Given the description of an element on the screen output the (x, y) to click on. 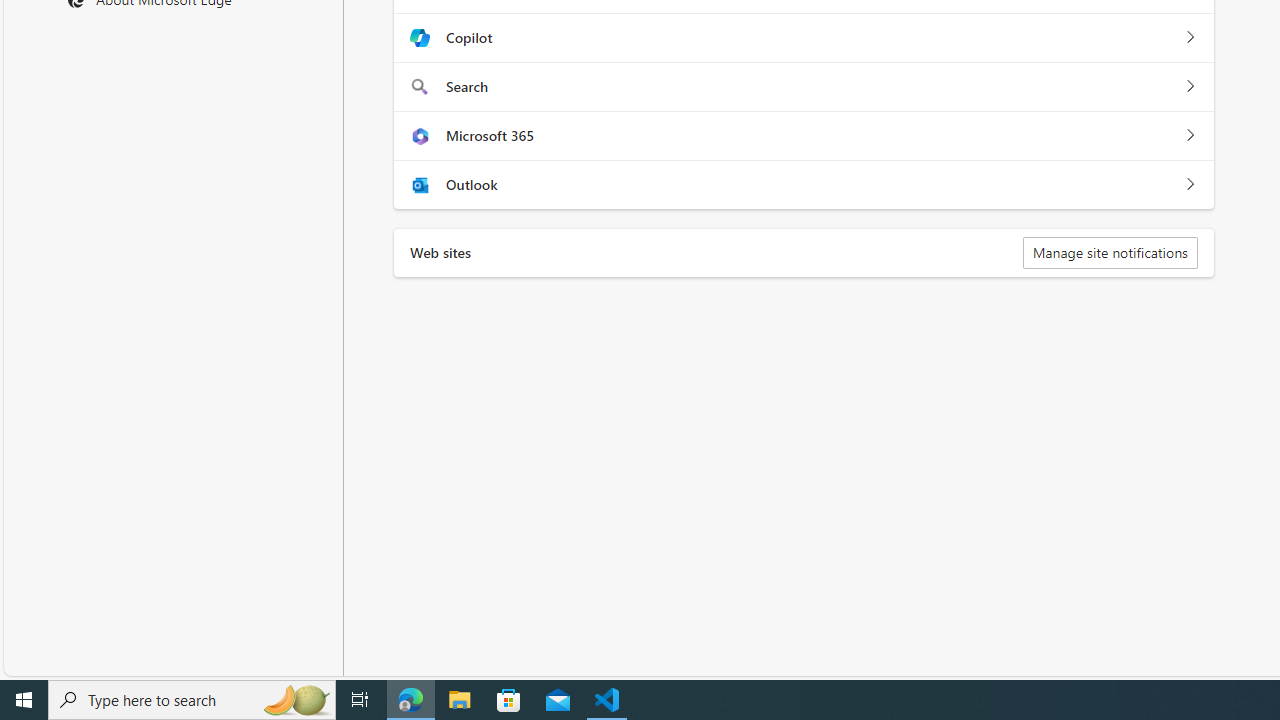
Copilot (1190, 38)
Manage site notifications (1109, 252)
